Given the description of an element on the screen output the (x, y) to click on. 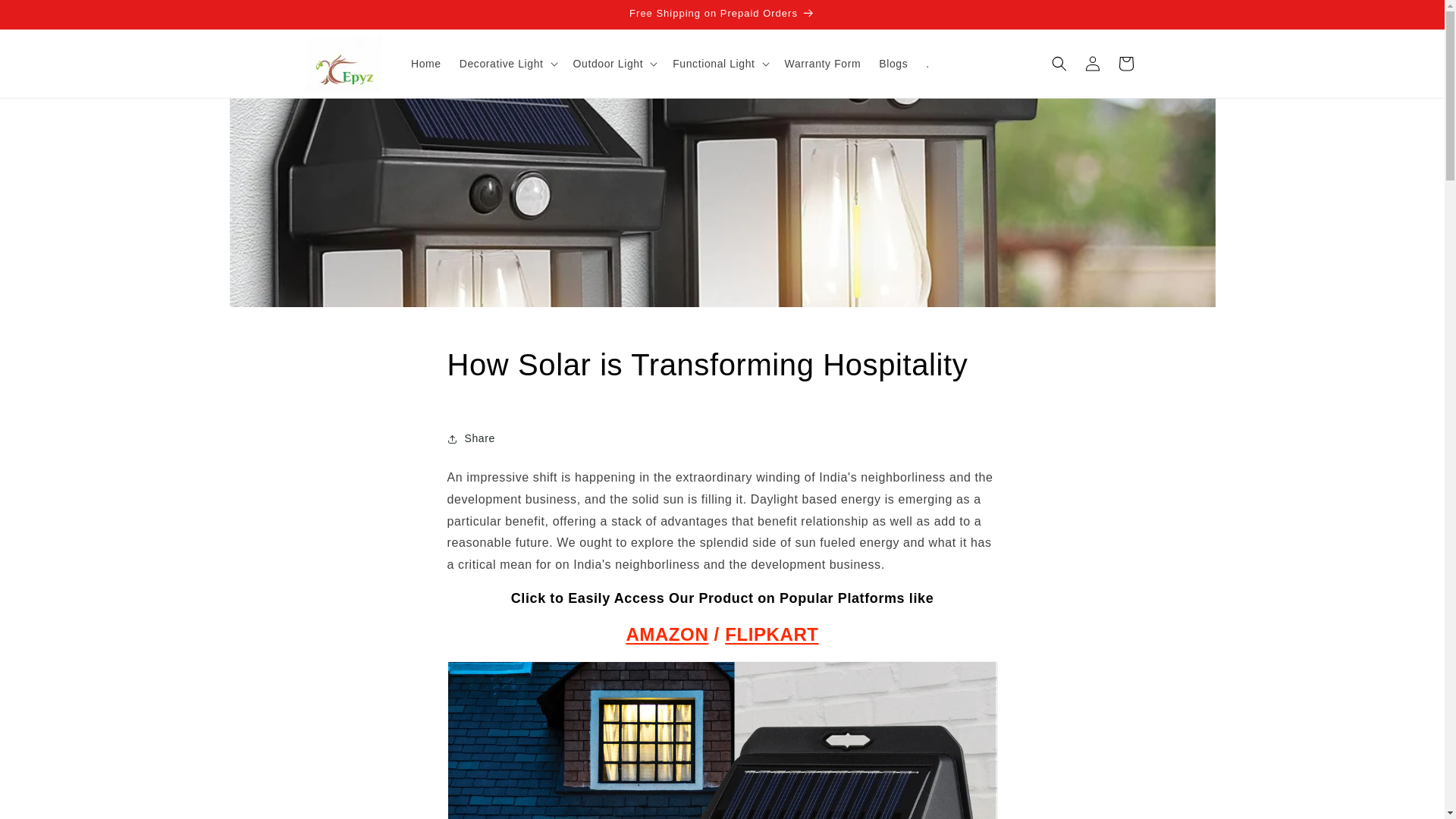
Free Shipping on Prepaid Orders (721, 14)
How Solar is Transforming Hospitality (721, 364)
Epyz Solar Wall Lights (666, 634)
Skip to content (46, 18)
Home (425, 63)
epyz solar garden light (771, 634)
Share (721, 438)
